Given the description of an element on the screen output the (x, y) to click on. 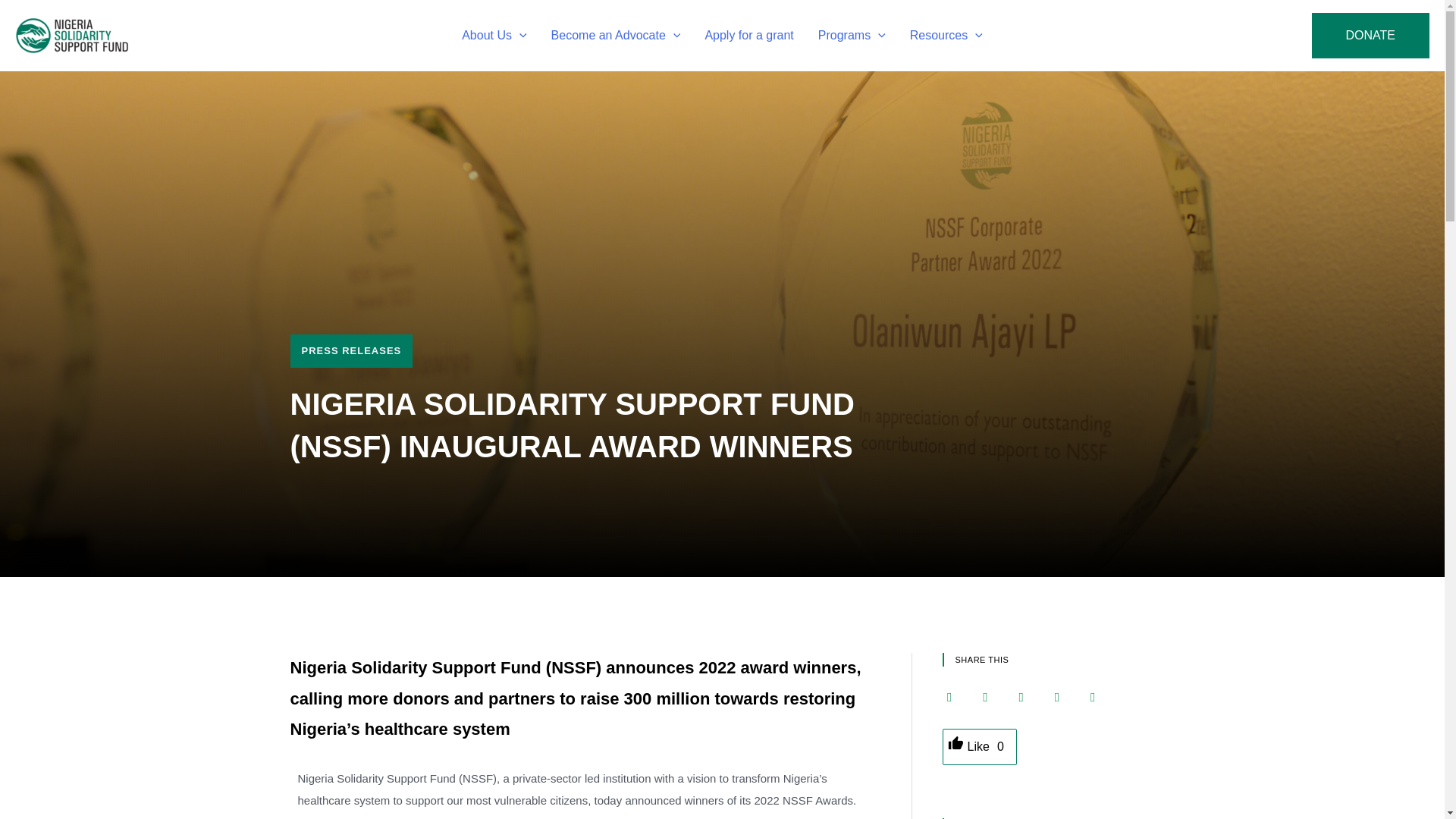
Programs (852, 35)
About Us (493, 35)
Resources (946, 35)
Apply for a grant (749, 35)
DONATE (1370, 35)
Become an Advocate (615, 35)
